Given the description of an element on the screen output the (x, y) to click on. 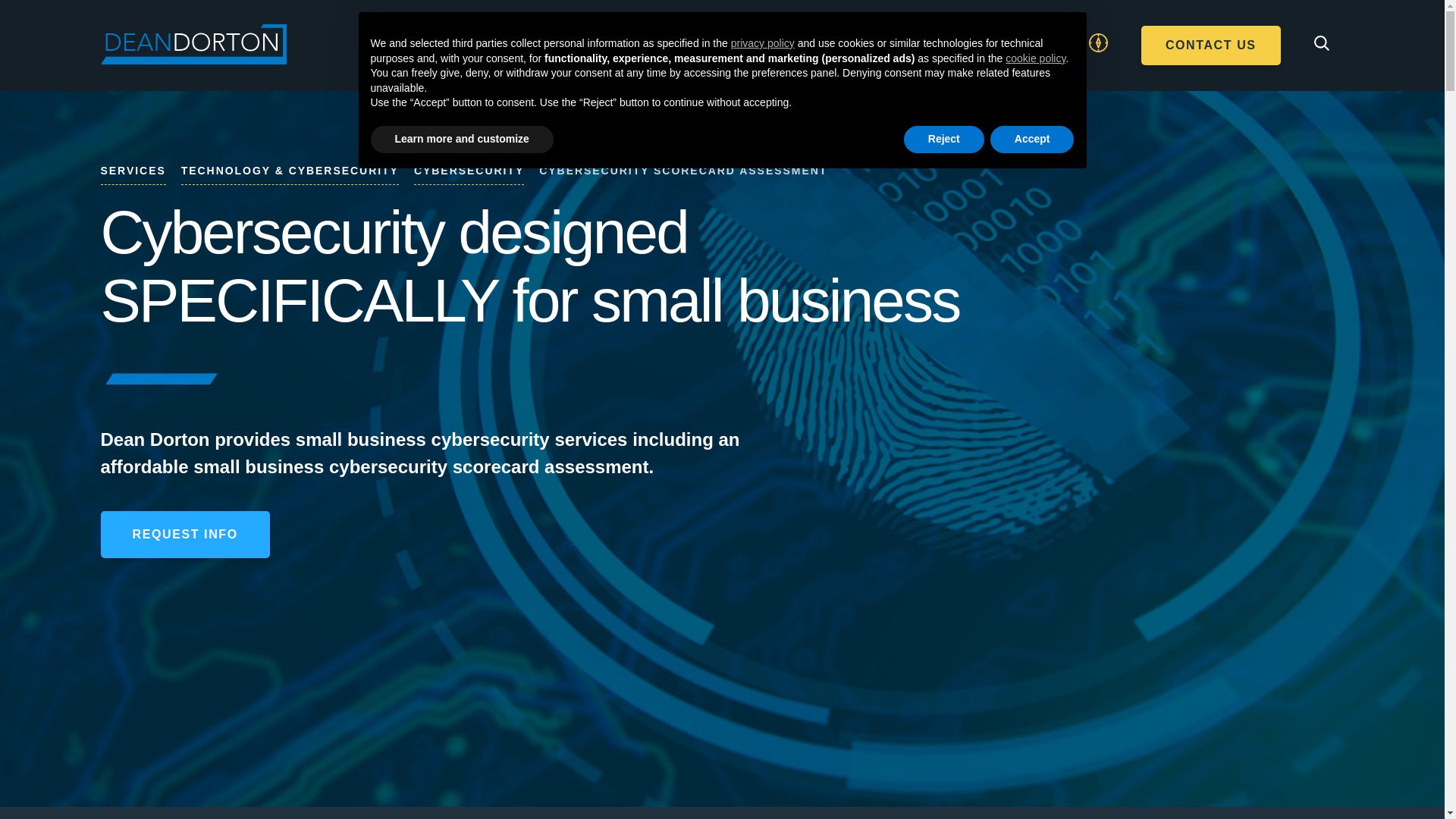
SERVICES (608, 57)
Go to Services. (132, 174)
Go to Cybersecurity. (468, 174)
